Given the description of an element on the screen output the (x, y) to click on. 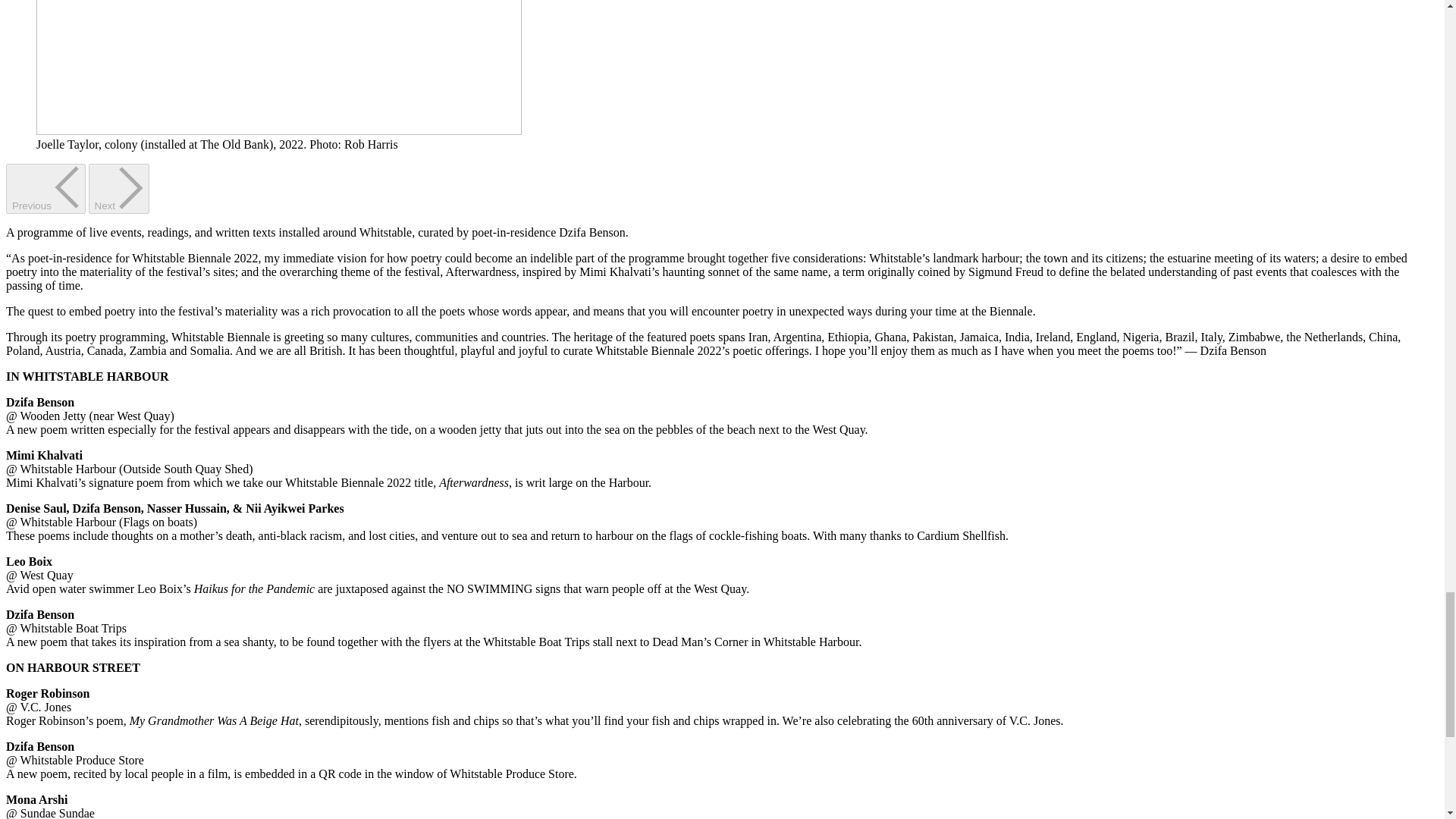
Previous (45, 188)
Next (118, 188)
